Given the description of an element on the screen output the (x, y) to click on. 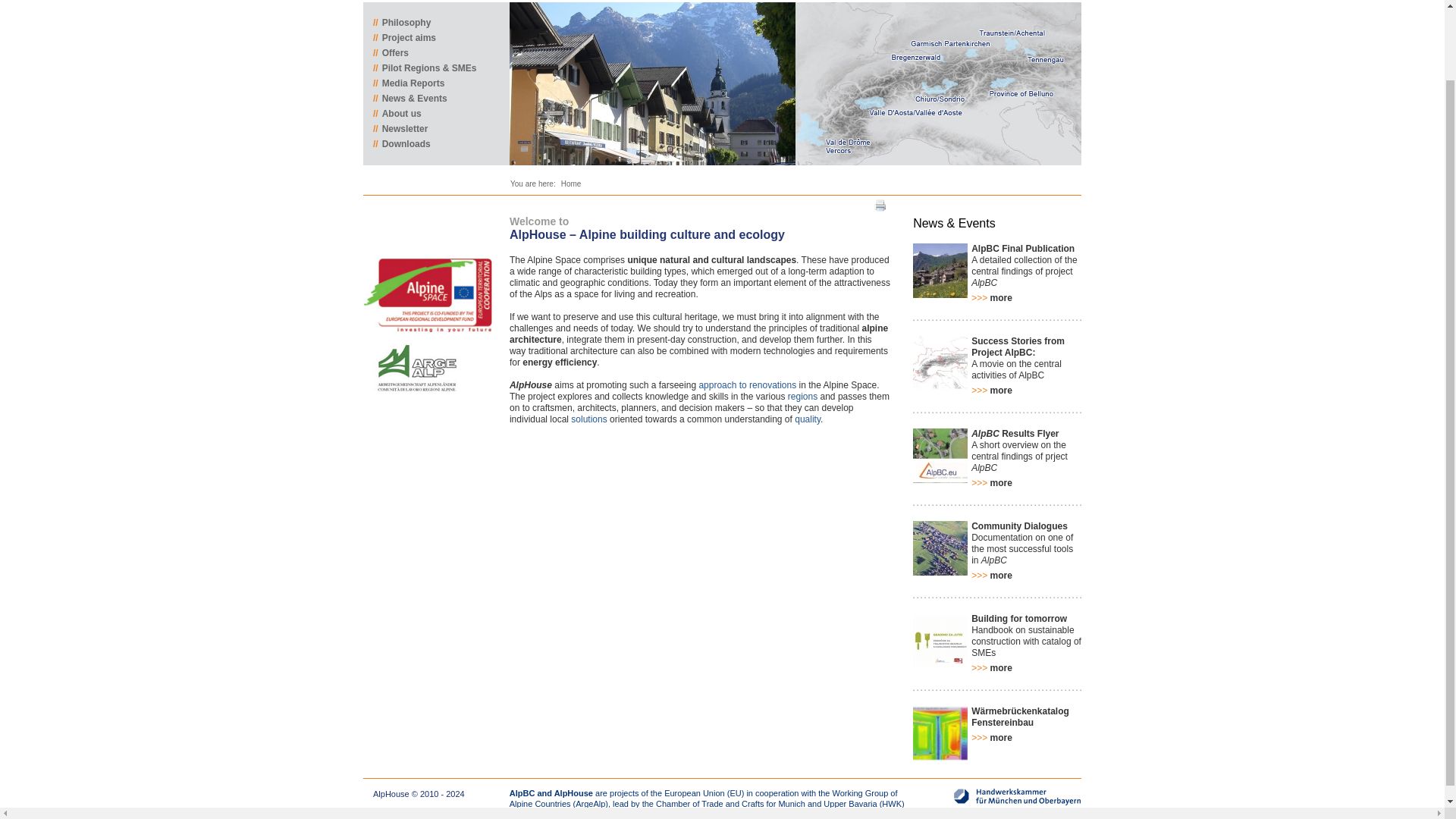
regions (801, 396)
Home (570, 183)
Enter the Information Platform (937, 83)
arge-alpk.jpg (415, 369)
solutions (588, 419)
quality (807, 419)
approach to renovations (747, 385)
